Given the description of an element on the screen output the (x, y) to click on. 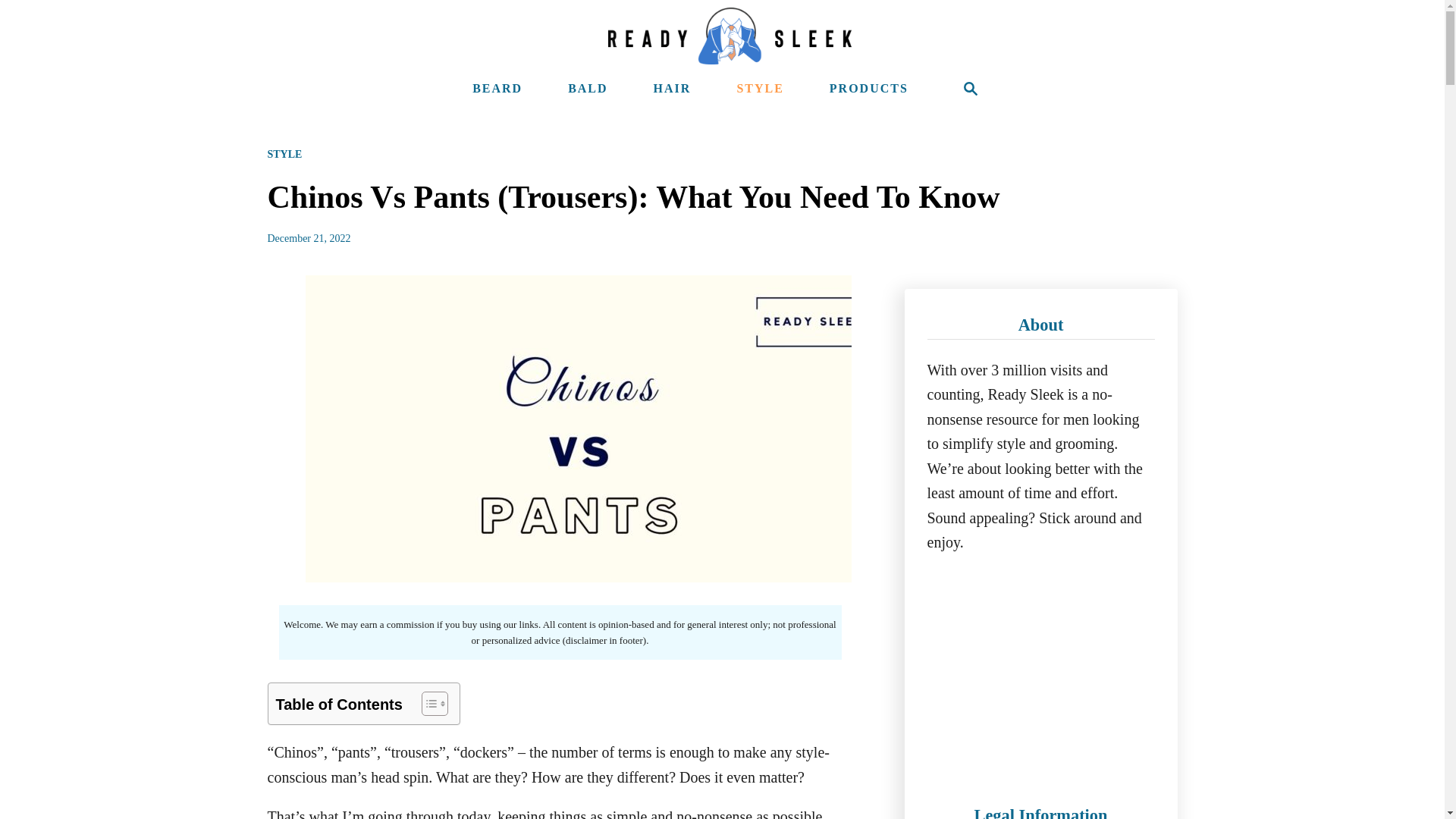
Search (970, 88)
STYLE (759, 88)
Ready Sleek (730, 35)
BEARD (496, 88)
PRODUCTS (868, 88)
BALD (587, 88)
HAIR (672, 88)
STYLE (283, 153)
